Given the description of an element on the screen output the (x, y) to click on. 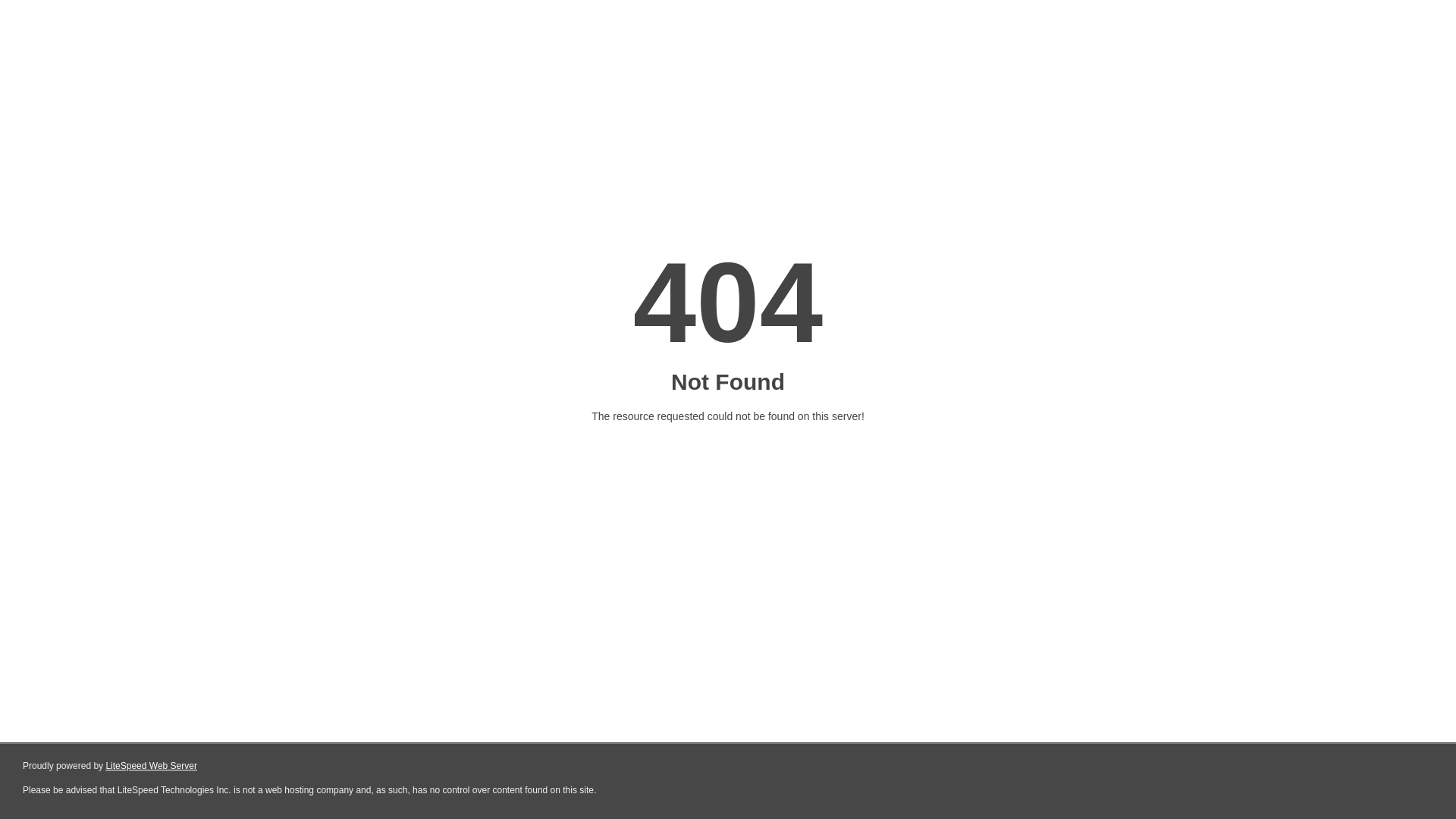
LiteSpeed Web Server (150, 765)
